Given the description of an element on the screen output the (x, y) to click on. 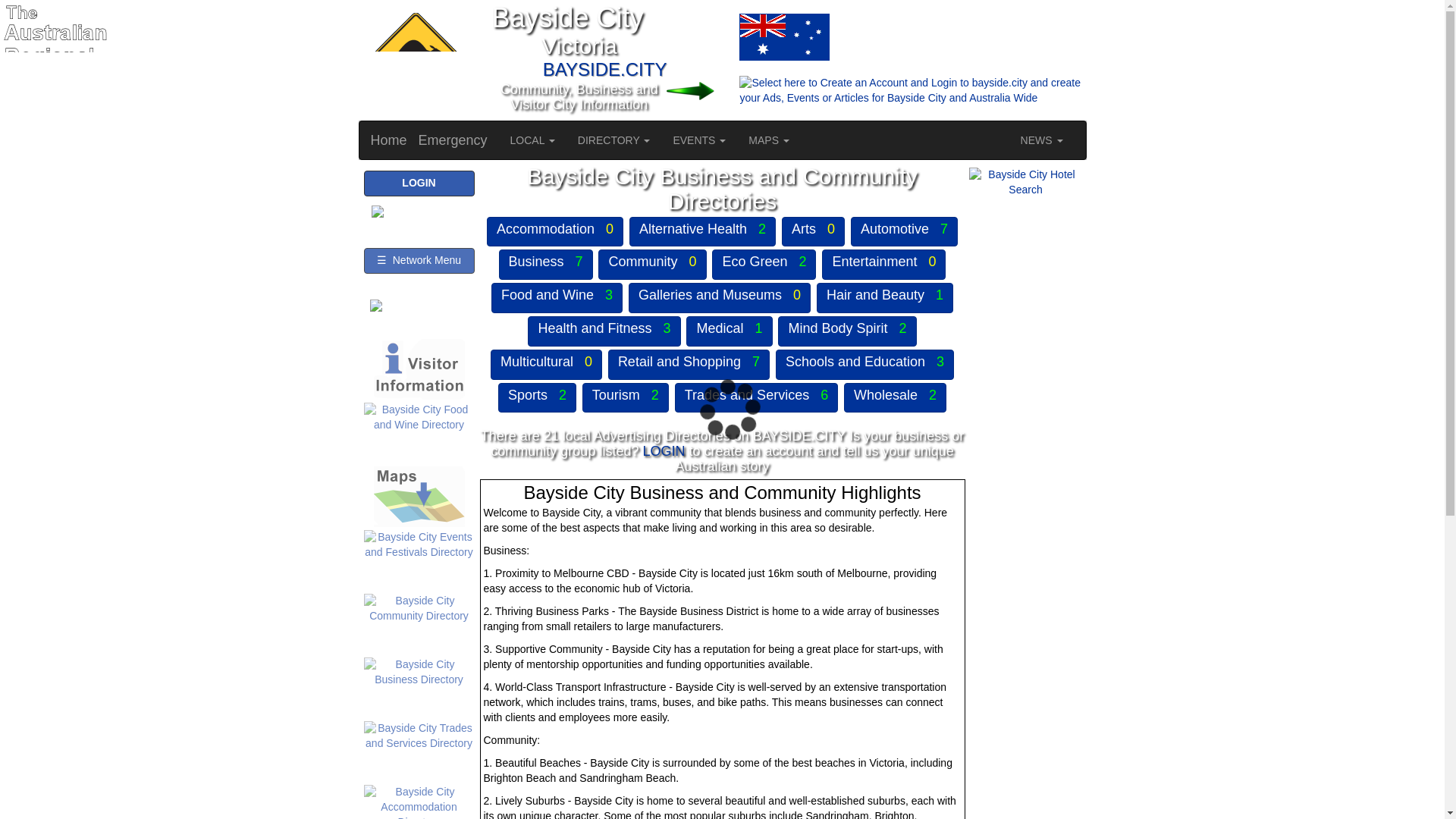
DIRECTORY (614, 139)
Bayside City Skippycoin ICG (413, 59)
Home (389, 139)
LOCAL (532, 139)
Australia (702, 36)
Emergency (453, 139)
Bayside City Australia (784, 36)
Login to bayside.city (702, 90)
Bayside City Hotel Search Engine (1026, 182)
